Given the description of an element on the screen output the (x, y) to click on. 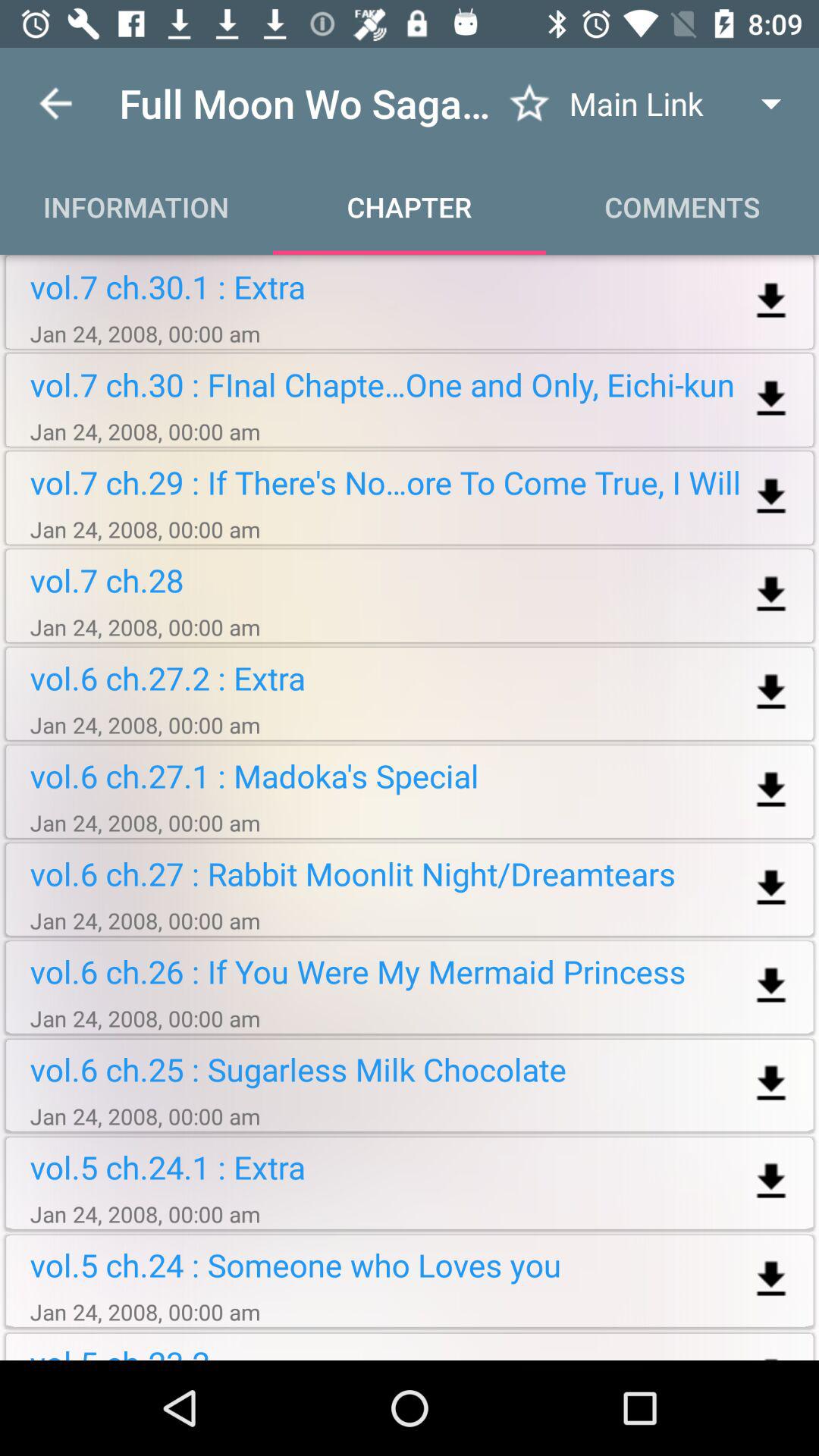
download the file (771, 496)
